Given the description of an element on the screen output the (x, y) to click on. 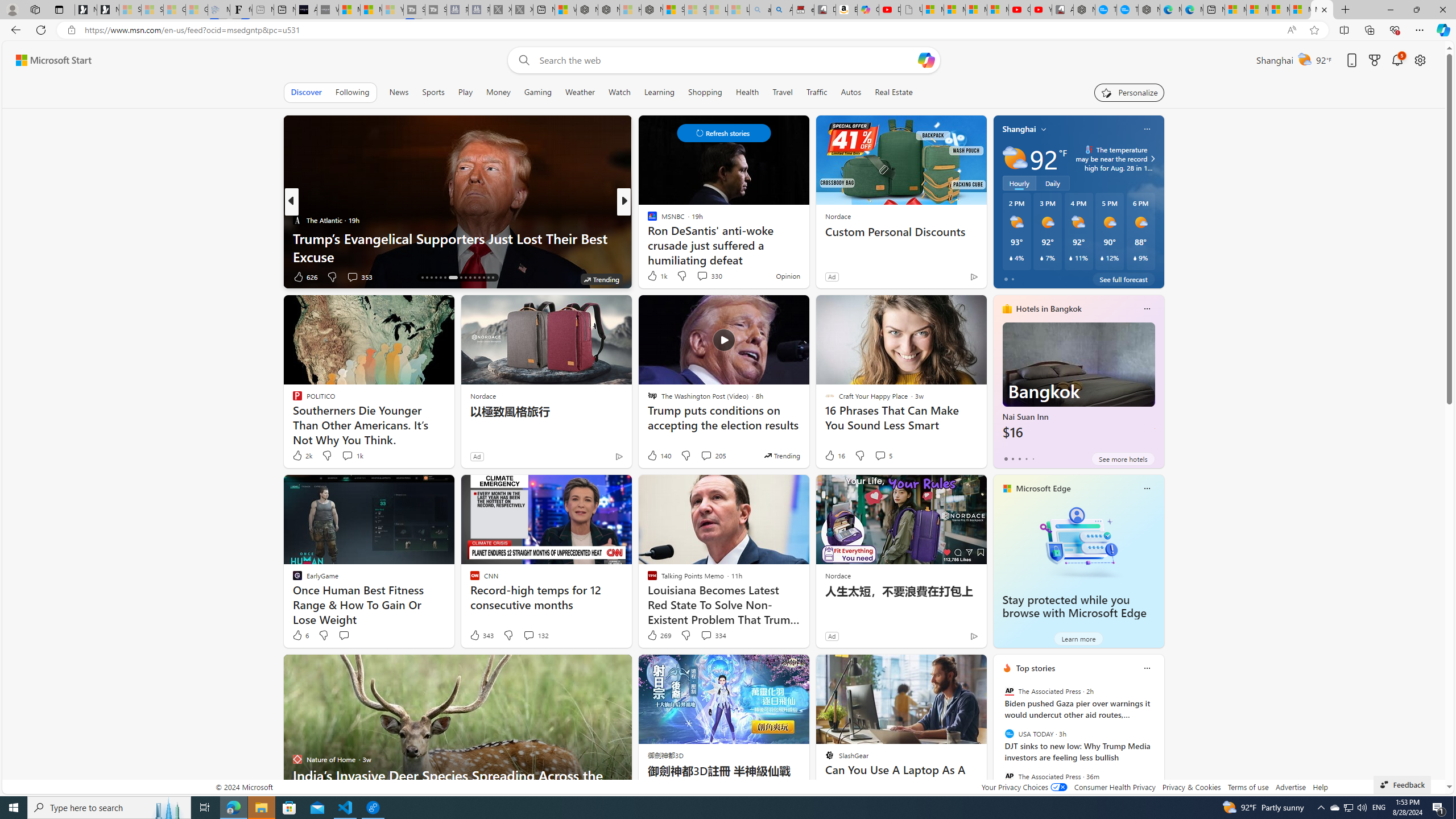
News (398, 92)
AutomationID: tab-22 (452, 277)
AI Voice Changer for PC and Mac - Voice.ai (306, 9)
Enter your search term (726, 59)
Shanghai (1018, 128)
Travel (782, 92)
497 Like (654, 276)
View comments 266 Comment (709, 276)
X - Sleeping (522, 9)
View comments 1k Comment (346, 455)
87 Like (652, 276)
